Given the description of an element on the screen output the (x, y) to click on. 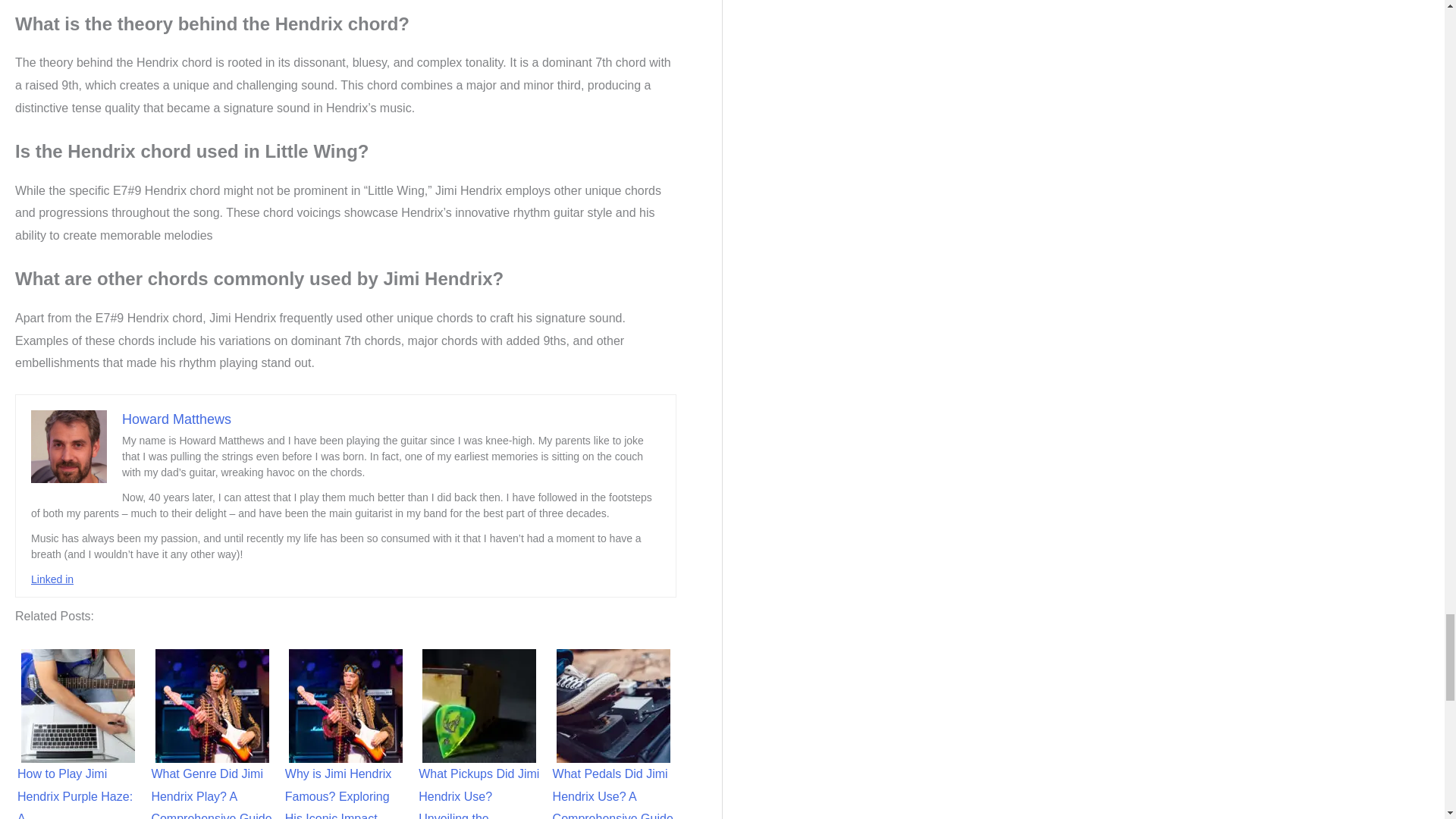
What Genre Did Jimi Hendrix Play? A Comprehensive Guide (212, 705)
Why is Jimi Hendrix Famous? Exploring His Iconic Impact (345, 705)
What Pedals Did Jimi Hendrix Use? A Comprehensive Guide (612, 705)
